Given the description of an element on the screen output the (x, y) to click on. 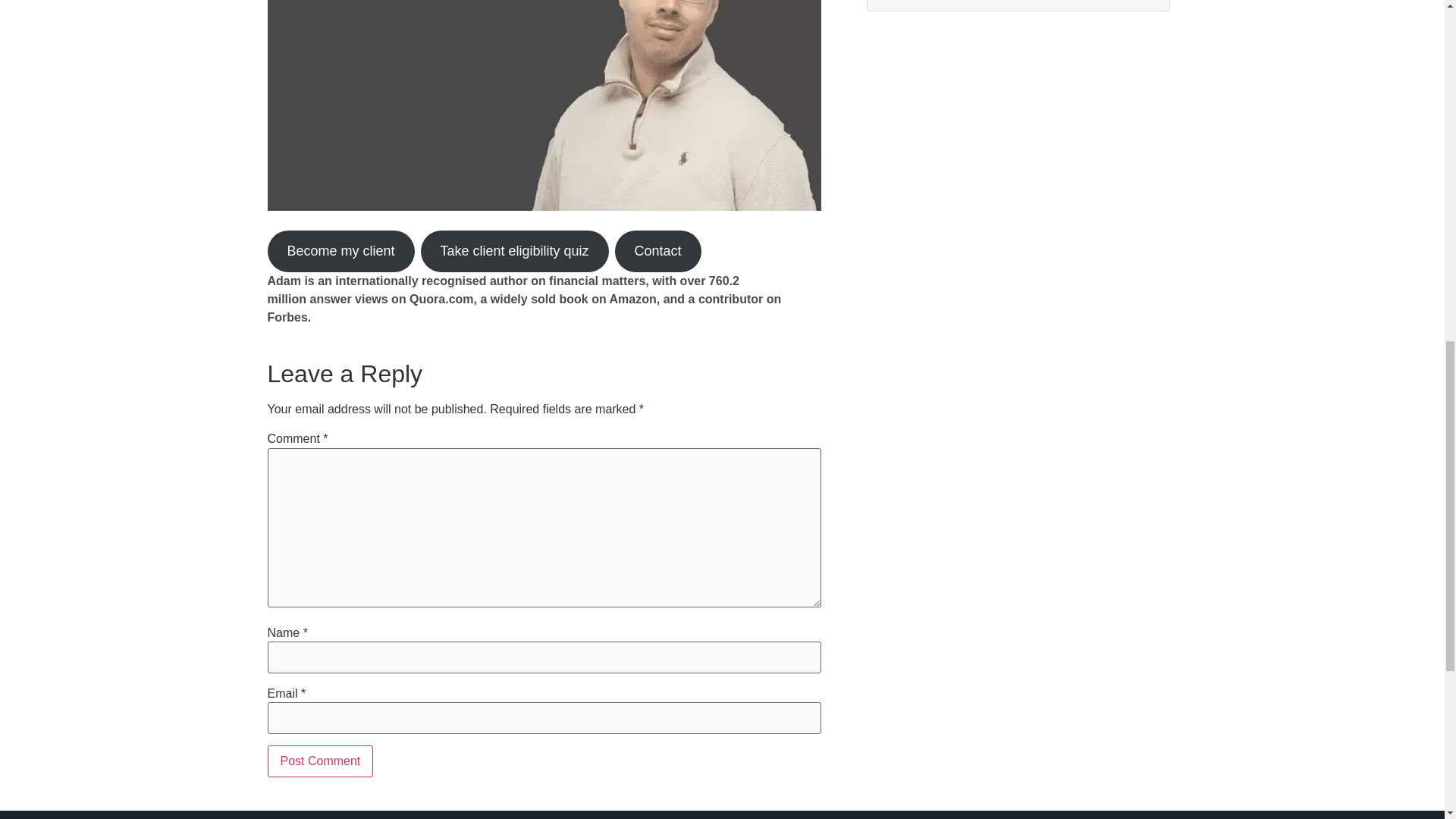
Take client eligibility quiz (514, 250)
Is the Hong Kong Hang Seng undervalued? 1 (543, 105)
Become my client (339, 250)
Contact (657, 250)
Post Comment (319, 761)
